Given the description of an element on the screen output the (x, y) to click on. 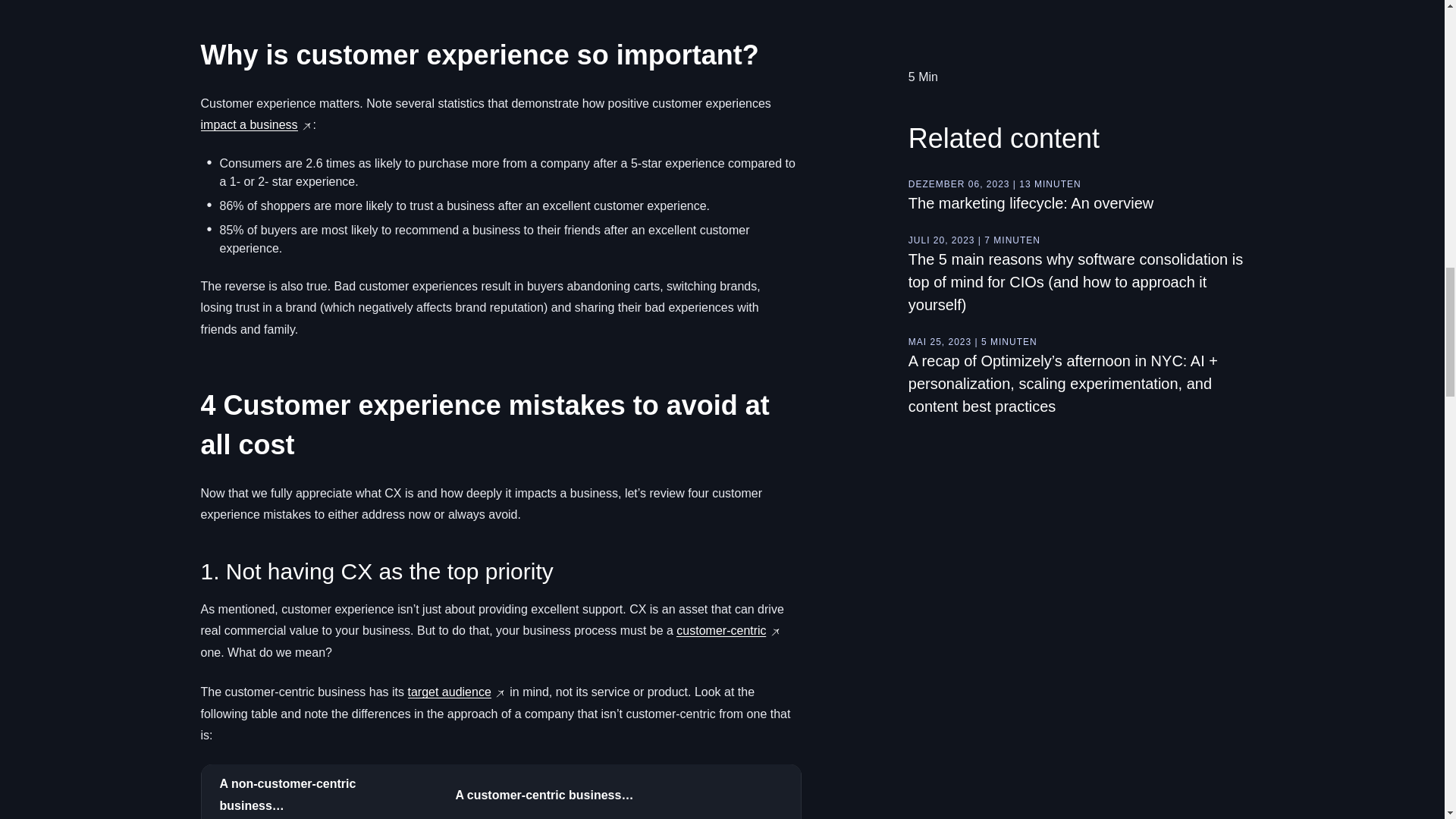
customer-centric (721, 630)
impact a business (248, 124)
target audience (449, 691)
